Given the description of an element on the screen output the (x, y) to click on. 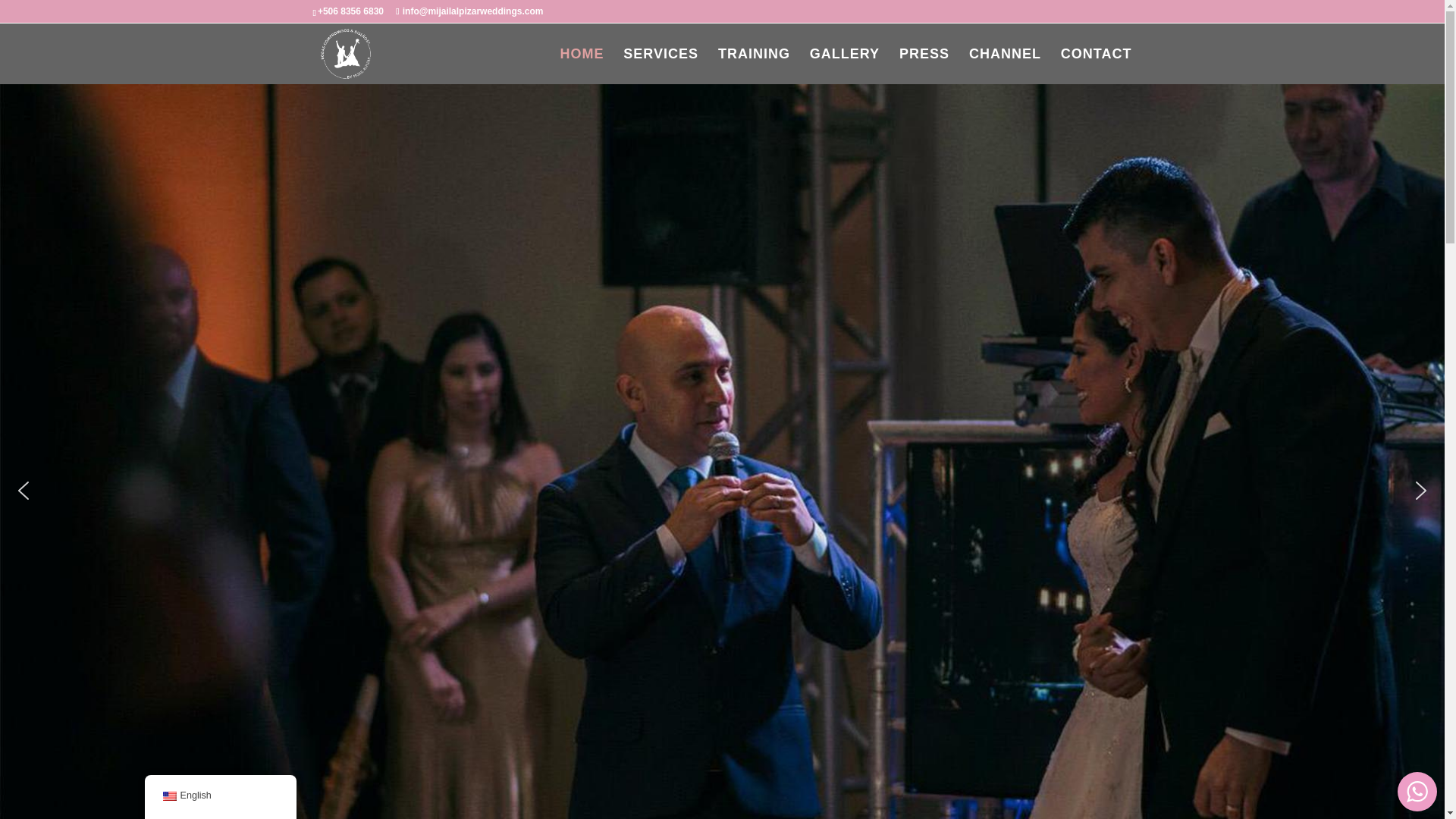
HOME (581, 66)
CHANNEL (1005, 66)
TRAINING (753, 66)
CONTACT (1096, 66)
GALLERY (844, 66)
PRESS (924, 66)
English (219, 796)
SERVICES (660, 66)
